Given the description of an element on the screen output the (x, y) to click on. 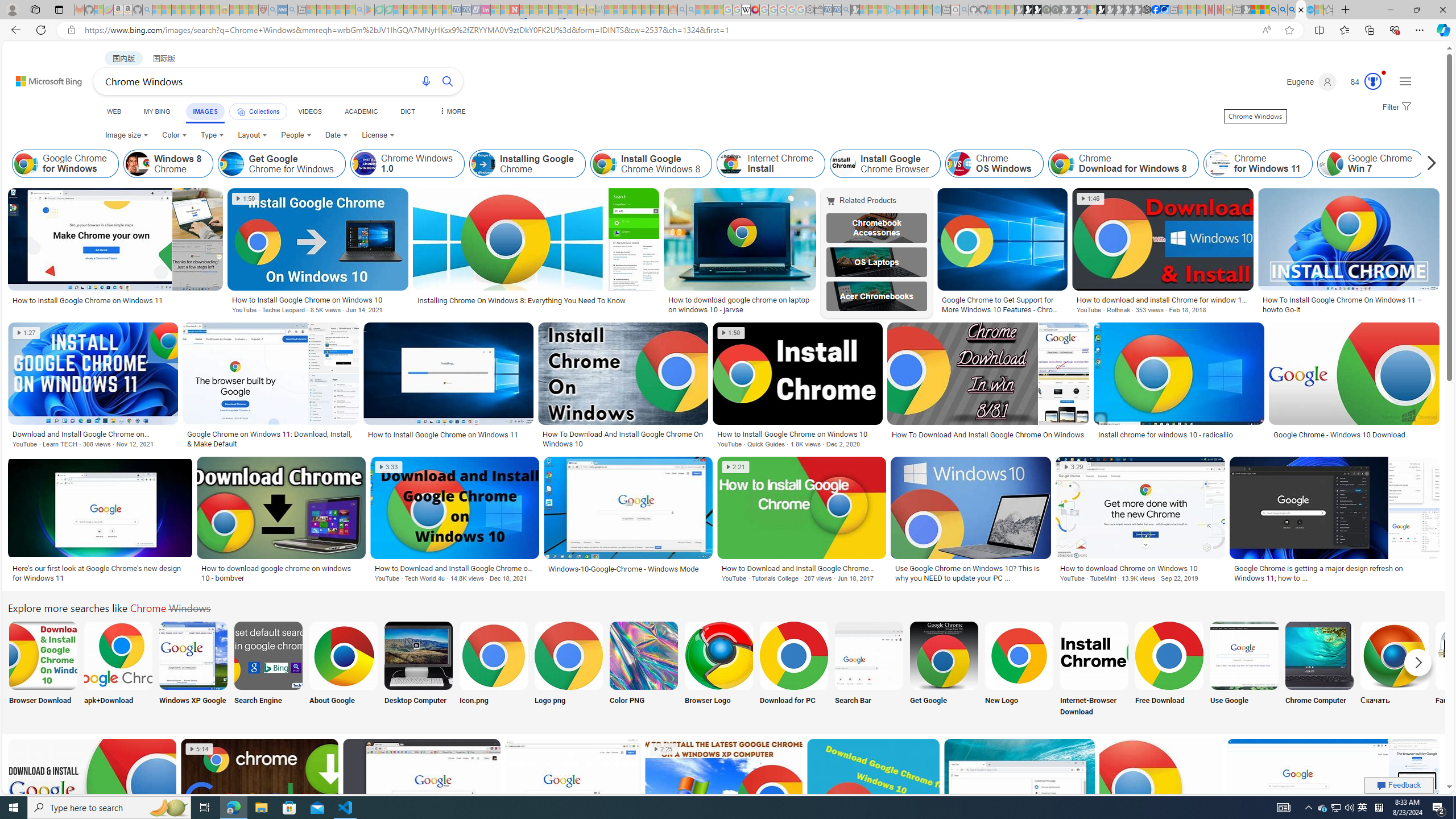
IMAGES (205, 112)
Eugene (1311, 81)
1:50 (731, 332)
How to Download and Install Google Chrome Windows (801, 568)
Chrome Download for Windows 8 (1123, 163)
Installing Google Chrome (483, 163)
WEB (114, 111)
Layout (253, 135)
Dropdown Menu (451, 111)
Color PNG (644, 669)
Get Google Chrome for Windows (281, 163)
